Given the description of an element on the screen output the (x, y) to click on. 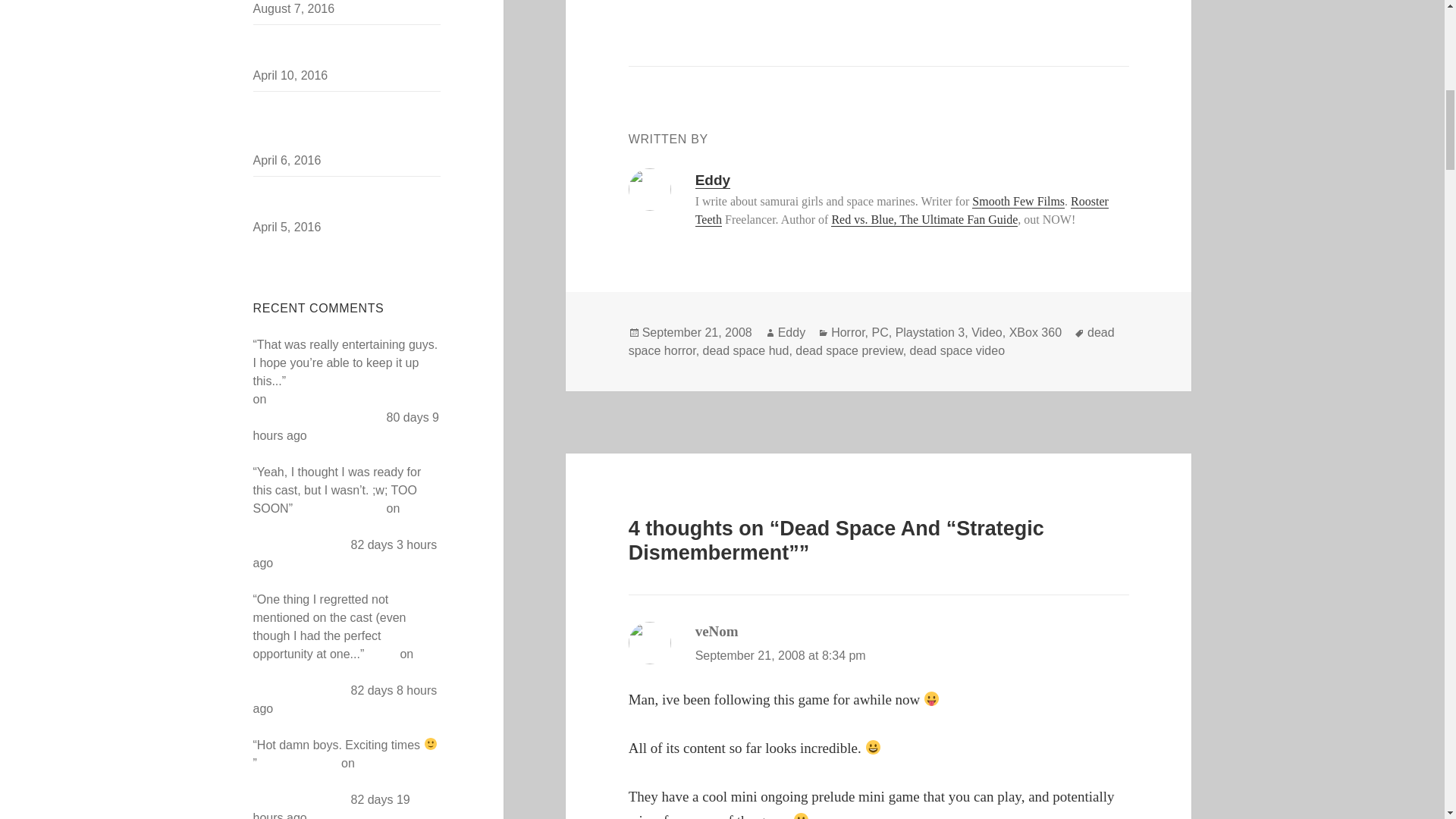
dapurplesharpie (338, 508)
The GamerSushi Show, Ep 95: Super Sushian Odyssey (341, 780)
The GamerSushi Show, Ep 95: Super Sushian Odyssey (341, 526)
Julez Michaud (298, 762)
The GamerSushi Show, Ep 95: Super Sushian Odyssey (344, 408)
Sunset Overdrive Scratches That Saints Row Itch (341, 199)
Mitch (382, 653)
The Division Delivers But Only in Fits and Starts (341, 47)
The GamerSushi Show, Ep 95: Super Sushian Odyssey (345, 671)
